Given the description of an element on the screen output the (x, y) to click on. 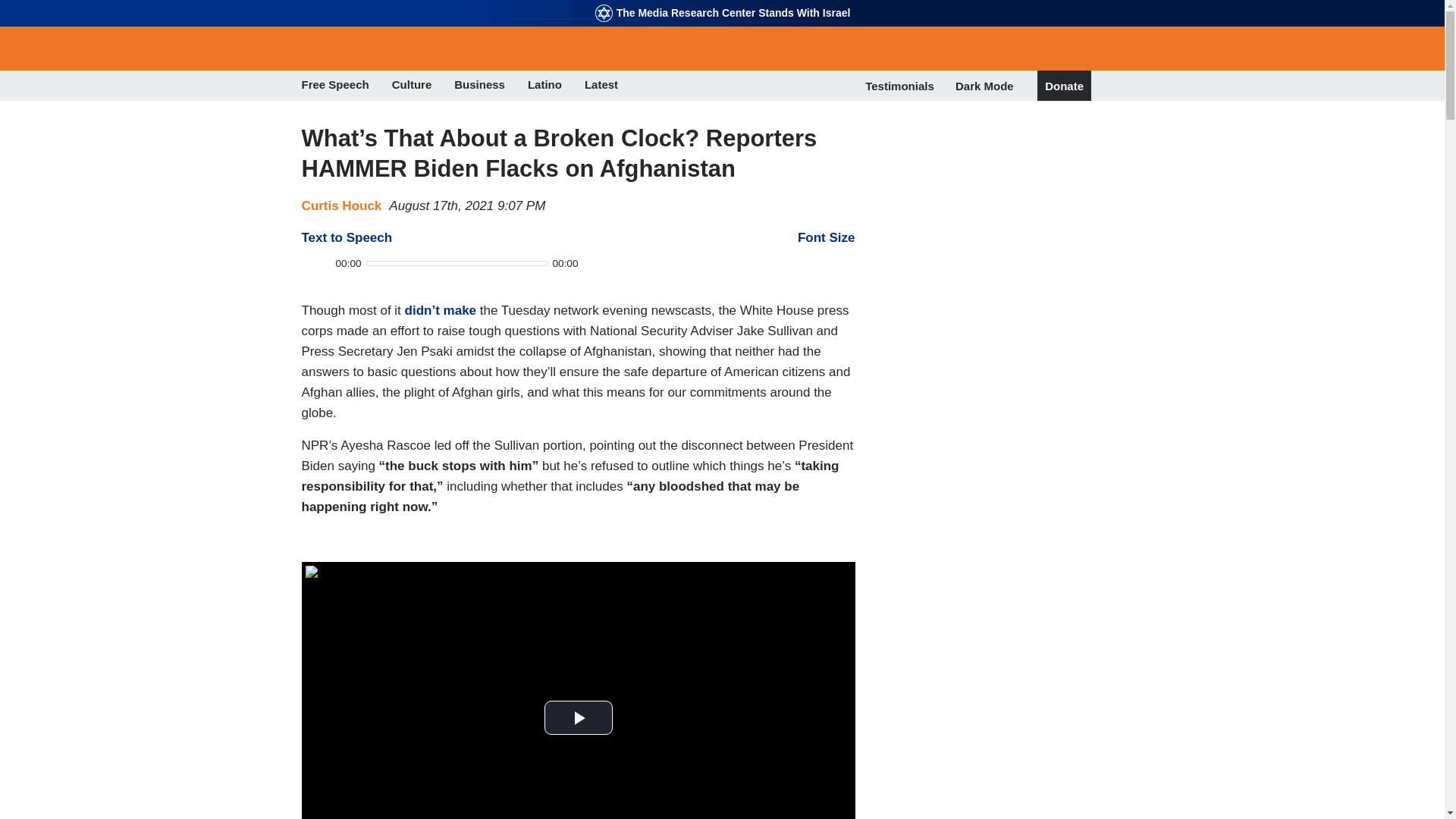
Dark Mode (984, 85)
Donate (1064, 86)
Culture (411, 85)
Testimonials (899, 85)
Free Speech (335, 85)
Skip to main content (721, 1)
Latest (601, 85)
Business (479, 85)
Latino (544, 85)
